Given the description of an element on the screen output the (x, y) to click on. 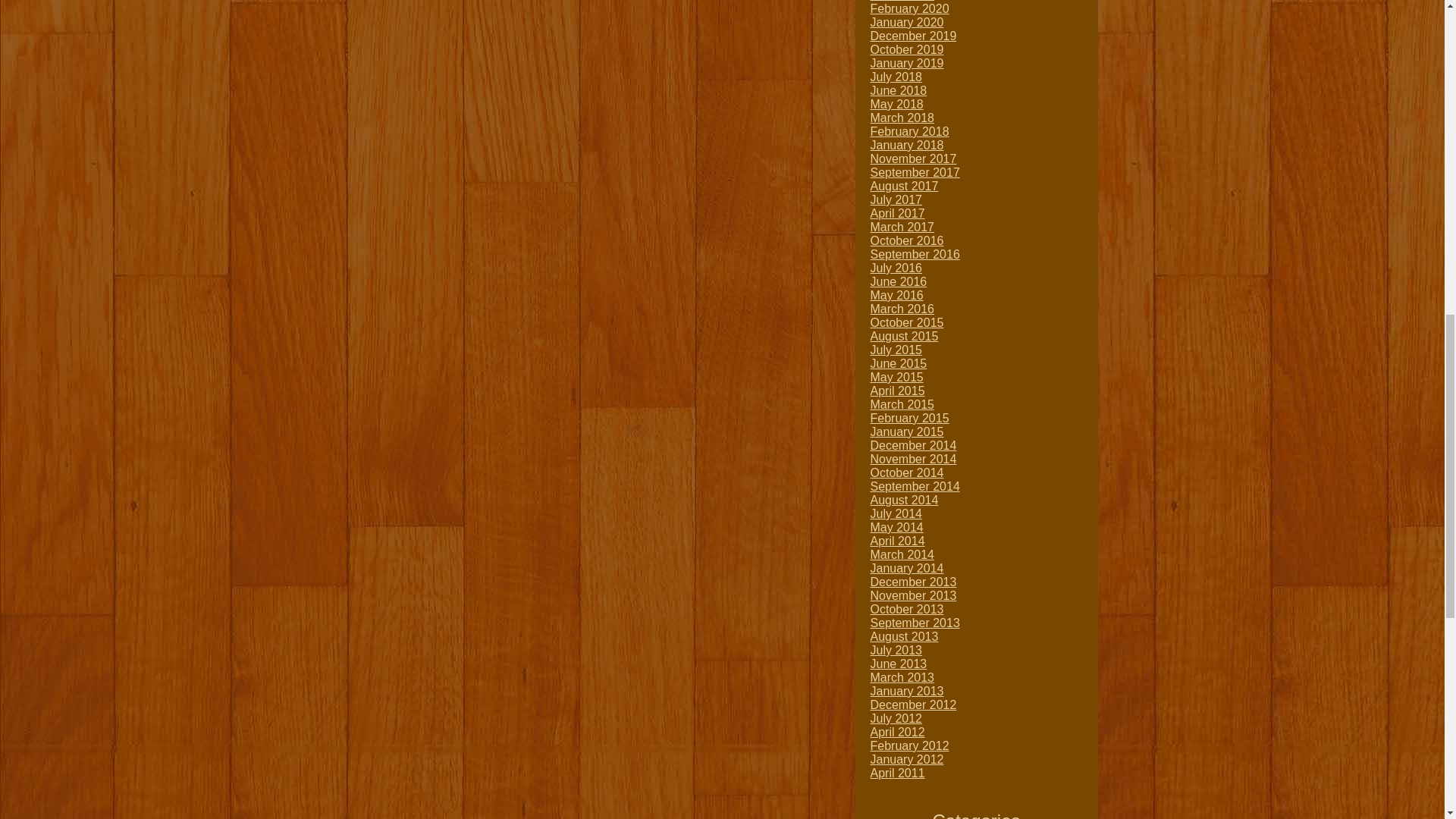
March 2020 (902, 0)
January 2020 (906, 21)
February 2020 (909, 8)
